Given the description of an element on the screen output the (x, y) to click on. 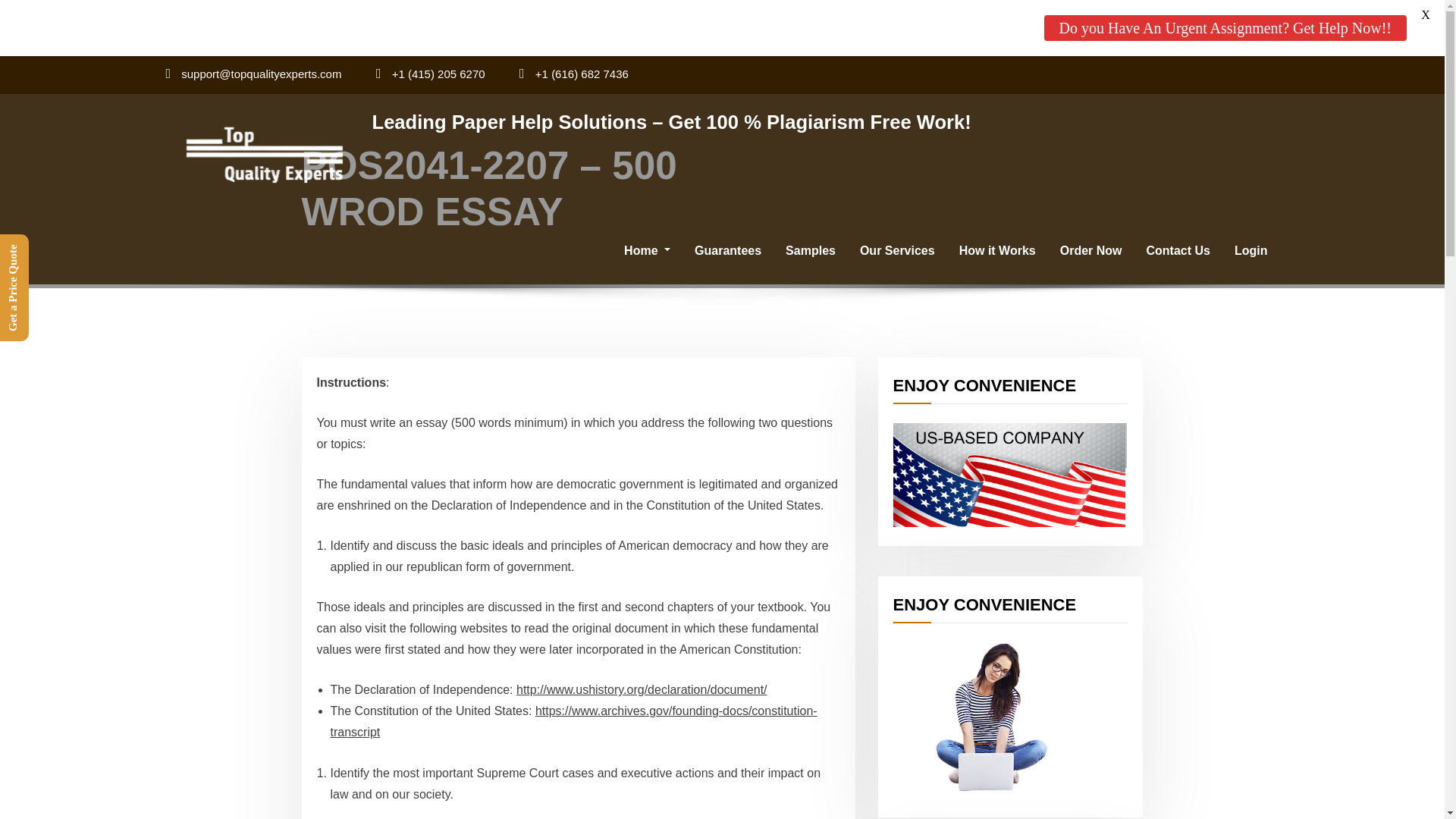
Our Services (897, 250)
Do you Have An Urgent Assignment? Get Help Now!! (1224, 27)
Contact Us (1178, 250)
Guarantees (727, 250)
How it Works (997, 250)
Samples (810, 250)
Order Now (1091, 250)
Get a Price Quote (52, 249)
Home (646, 250)
